Given the description of an element on the screen output the (x, y) to click on. 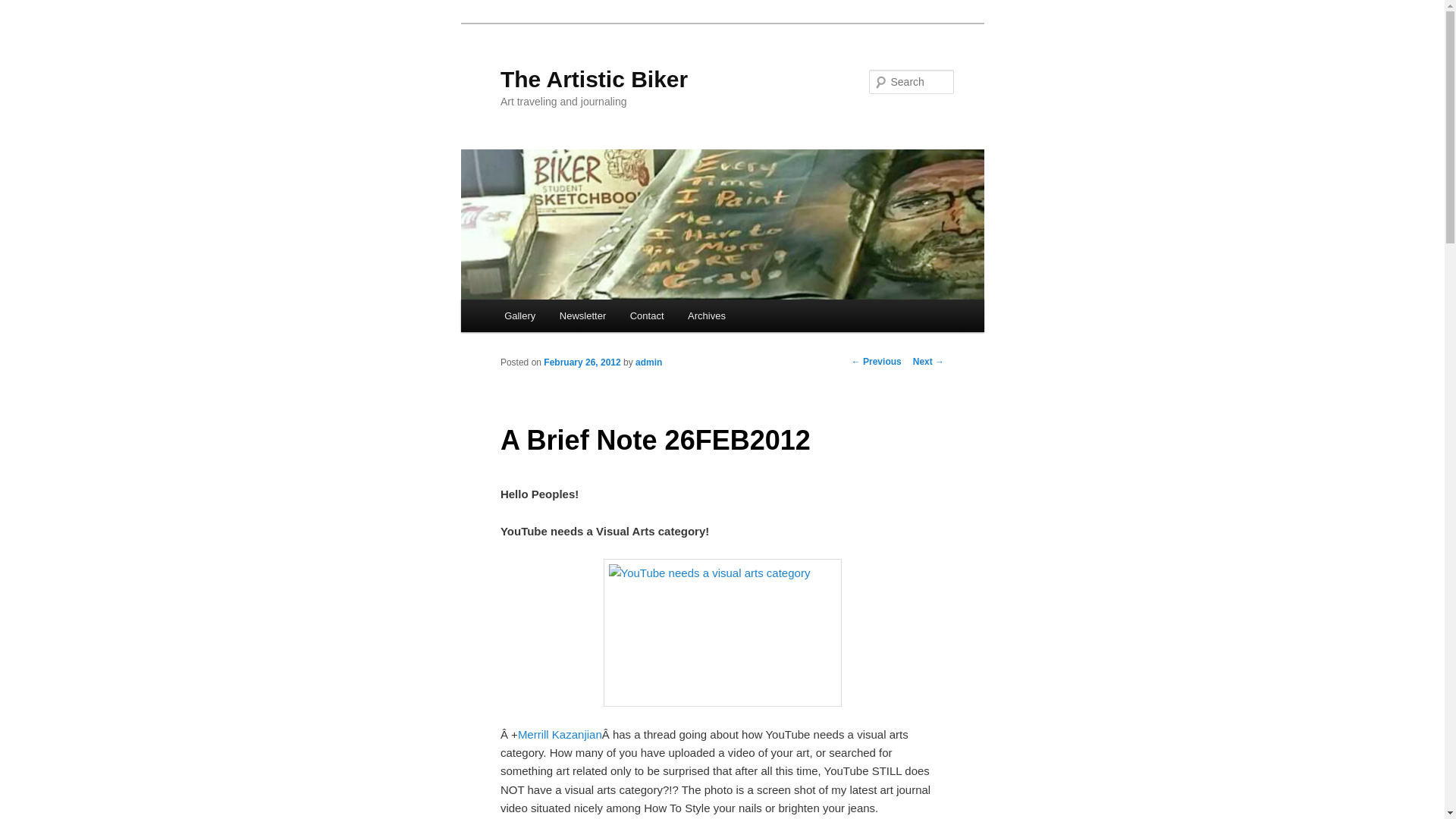
Contact (646, 315)
Gallery (519, 315)
admin (648, 361)
Newsletter (582, 315)
February 26, 2012 (581, 361)
Merrill Kazanjian (560, 734)
Gallery (519, 315)
The Artistic Biker (593, 78)
Archives (705, 315)
10:59 pm (581, 361)
Search (24, 8)
View all posts by admin (648, 361)
YouTube needs a visual arts category (722, 632)
